Given the description of an element on the screen output the (x, y) to click on. 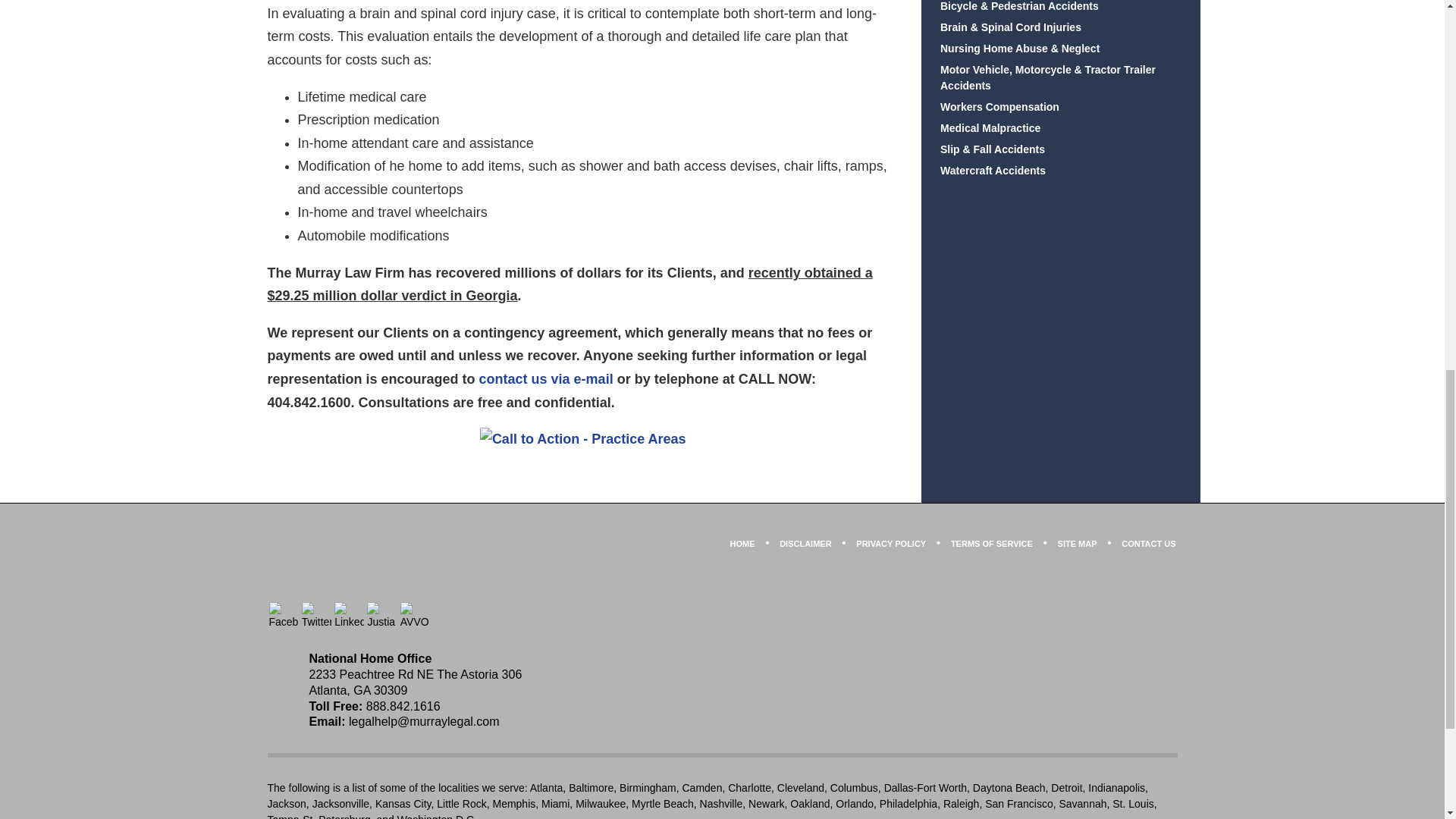
Facebook (282, 616)
DISCLAIMER (804, 543)
TERMS OF SERVICE (992, 543)
contact us via e-mail (545, 378)
Watercraft Accidents (1060, 170)
AVVO (414, 616)
HOME (741, 543)
PRIVACY POLICY (890, 543)
Justia (381, 616)
LinkedIn (349, 616)
